Given the description of an element on the screen output the (x, y) to click on. 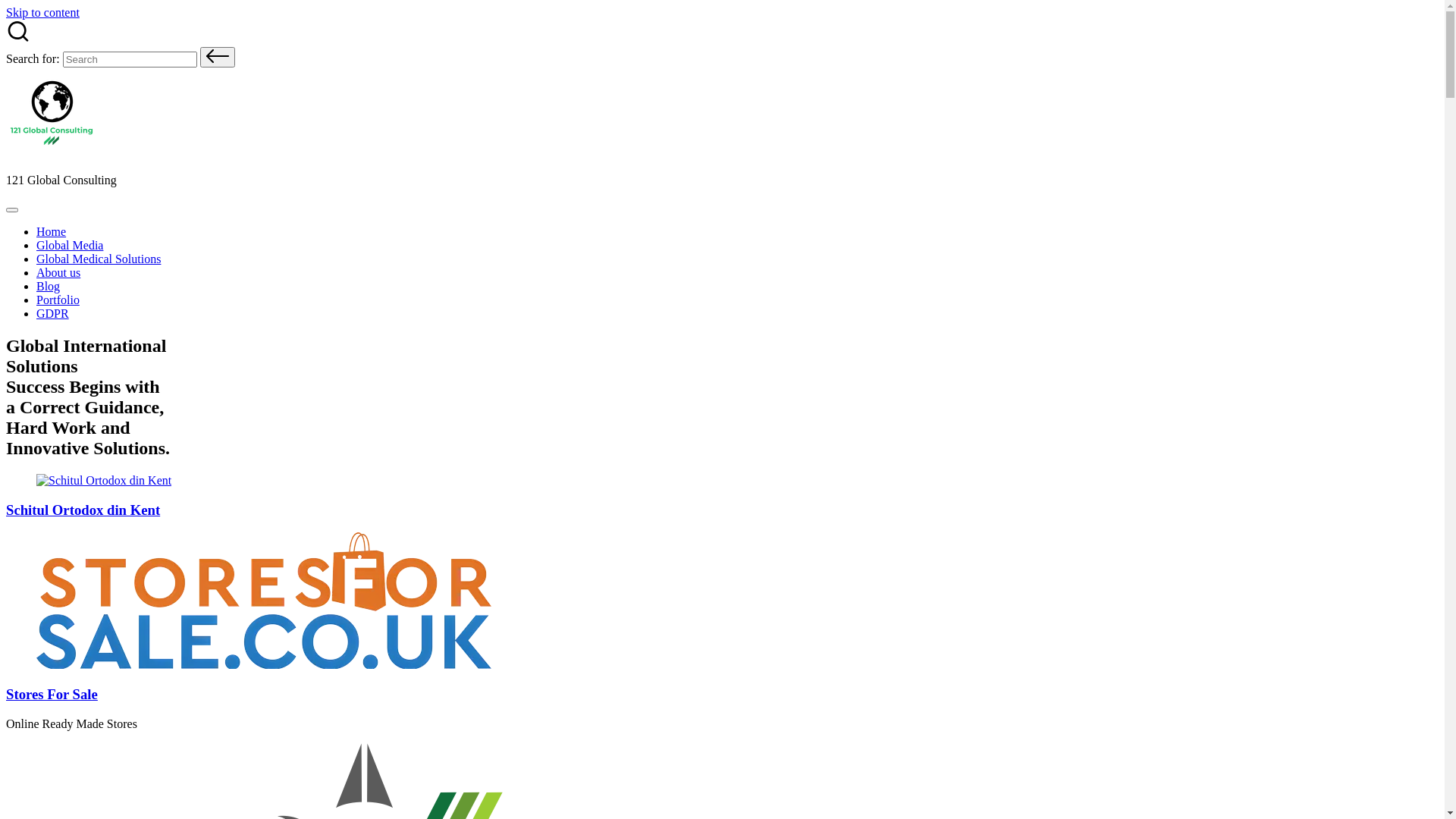
GDPR Element type: text (52, 313)
Home Element type: text (50, 231)
Global Media Element type: text (69, 244)
Schitul Ortodox din Kent Element type: text (83, 509)
Stores For Sale Element type: text (51, 694)
About us Element type: text (58, 272)
Blog Element type: text (47, 285)
Portfolio Element type: text (57, 299)
Global Medical Solutions Element type: text (98, 258)
Skip to content Element type: text (42, 12)
